Given the description of an element on the screen output the (x, y) to click on. 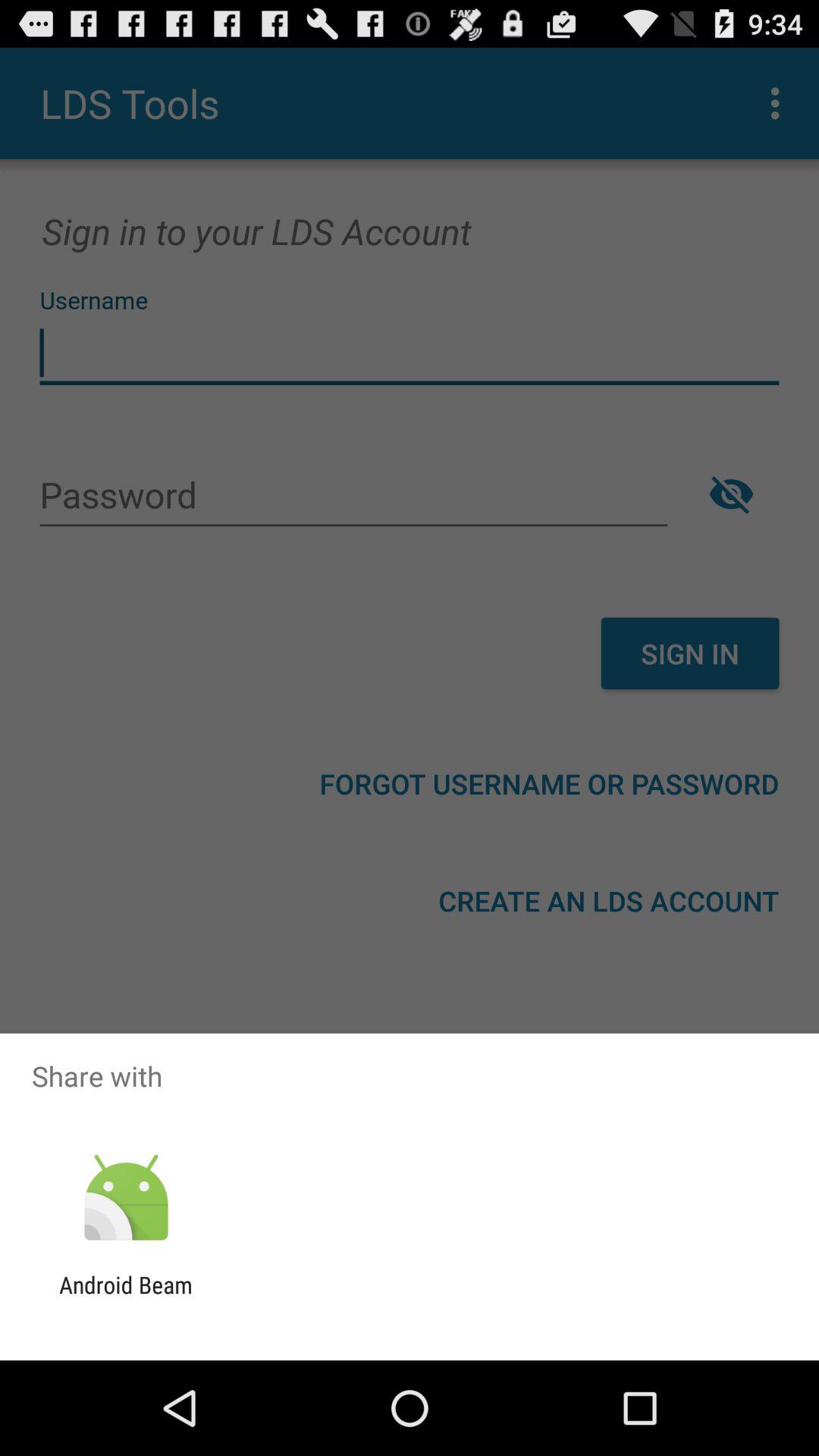
flip to android beam item (125, 1298)
